Given the description of an element on the screen output the (x, y) to click on. 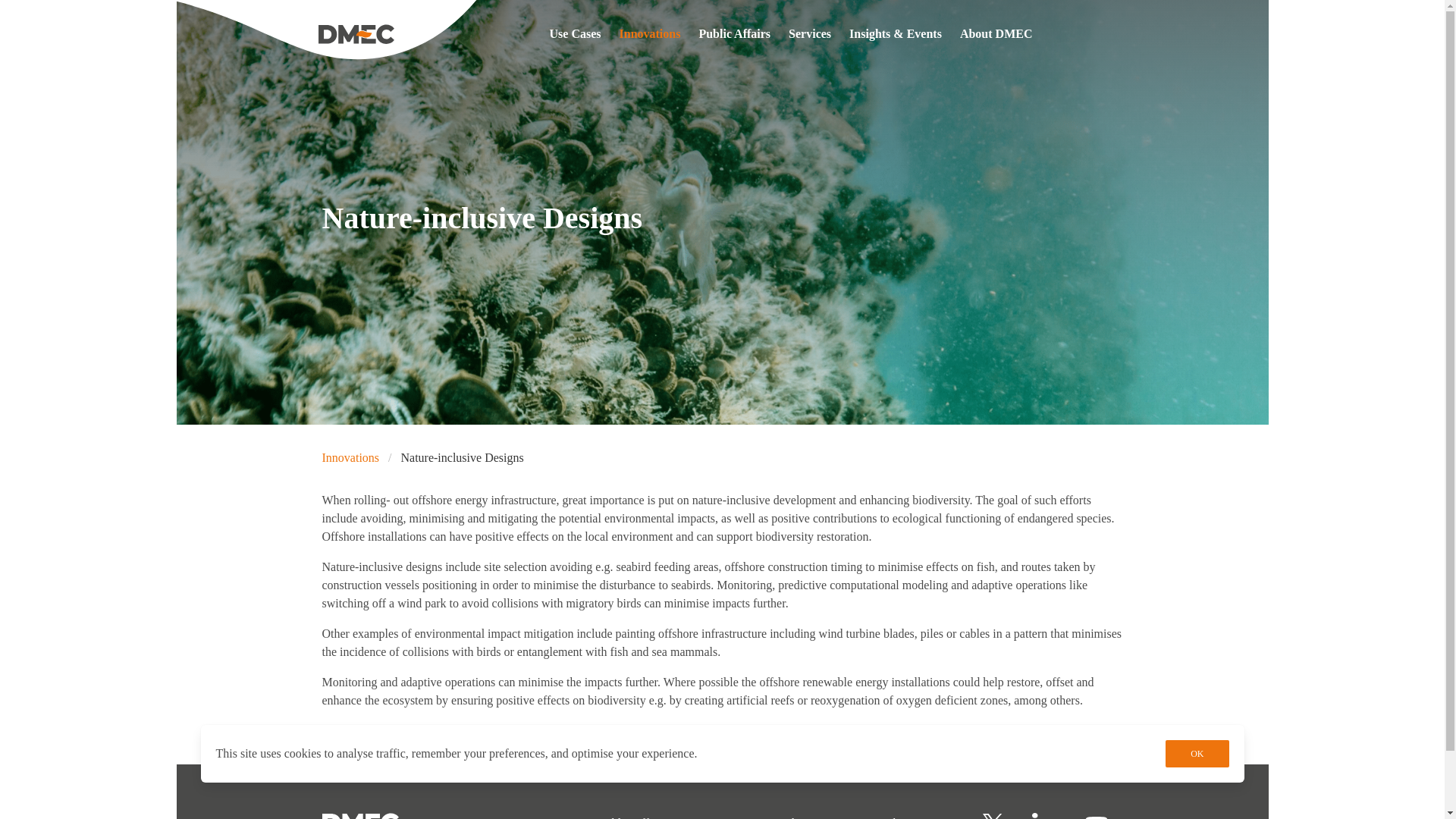
Innovations (354, 457)
About DMEC (917, 816)
Public Affairs (632, 816)
Use Cases (455, 816)
Services (715, 816)
Innovations (540, 816)
Use Cases (455, 816)
Innovations (354, 457)
Nature-inclusive Designs (461, 457)
Services (809, 34)
Nature-inclusive Designs (461, 457)
Ewa Spiesz (683, 730)
Services (715, 816)
Public Affairs (733, 34)
Dutch Marine Energy Centre (358, 33)
